Given the description of an element on the screen output the (x, y) to click on. 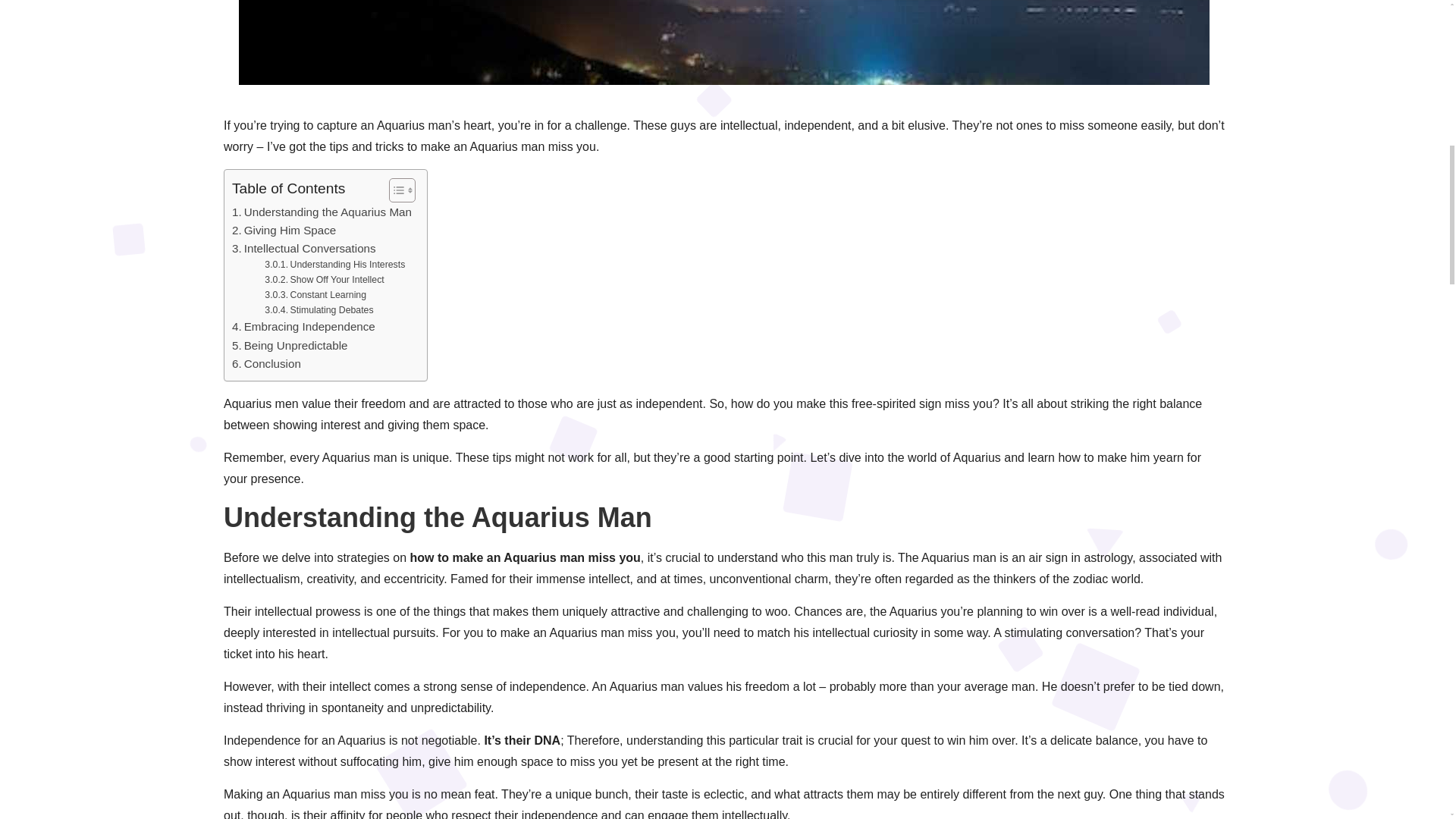
Embracing Independence (303, 326)
Intellectual Conversations (303, 248)
Understanding the Aquarius Man (321, 212)
Being Unpredictable (289, 345)
Conclusion (266, 363)
Stimulating Debates (318, 310)
Understanding His Interests (334, 264)
Constant Learning (315, 295)
Giving Him Space (283, 230)
Show Off Your Intellect (324, 280)
